Given the description of an element on the screen output the (x, y) to click on. 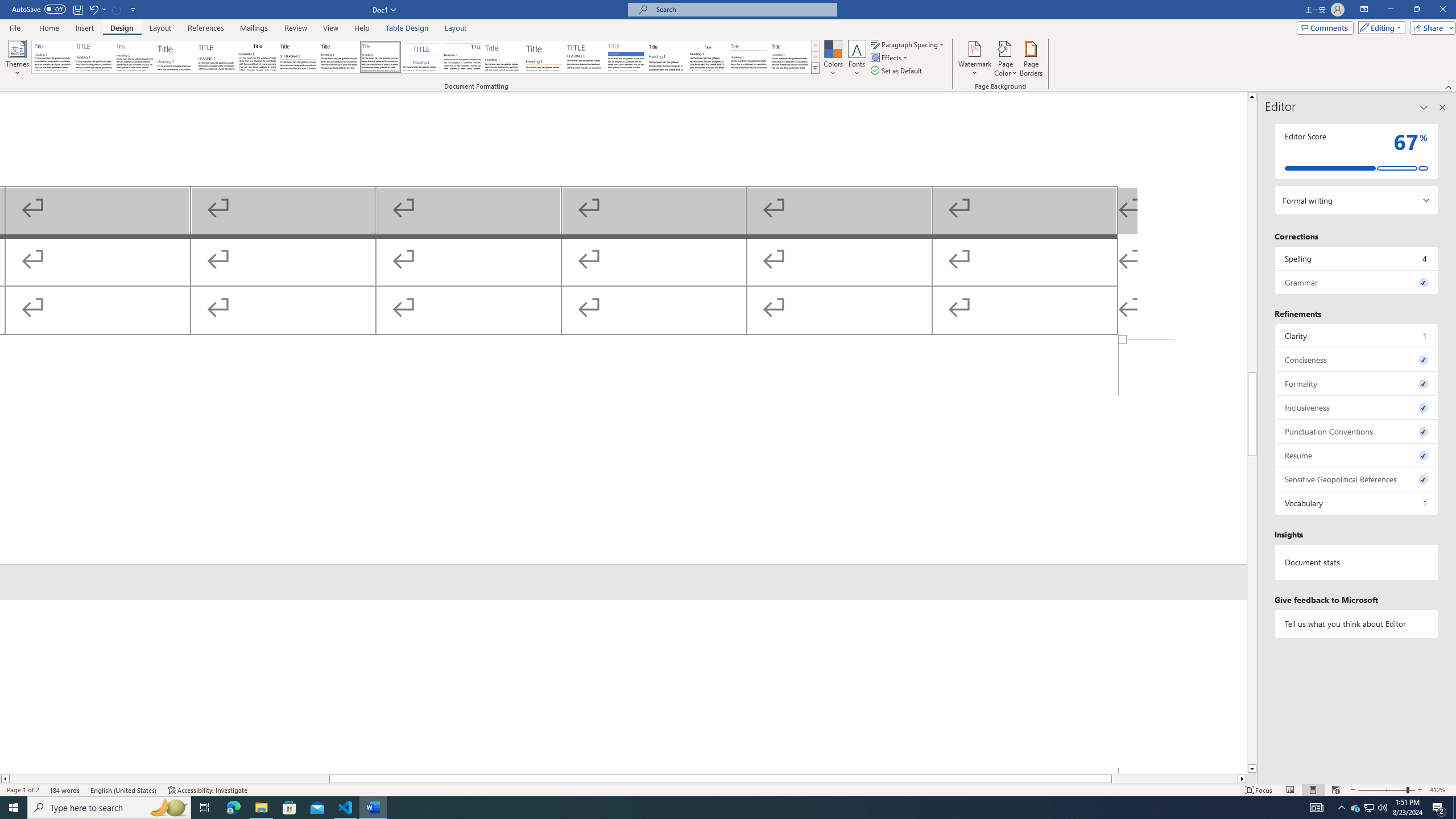
Black & White (Numbered) (298, 56)
Tell us what you think about Editor (1356, 624)
Black & White (Capitalized) (216, 56)
Basic (Elegant) (93, 56)
Shaded (625, 56)
Style Set (814, 67)
Black & White (Classic) (257, 56)
Column left (5, 778)
